Given the description of an element on the screen output the (x, y) to click on. 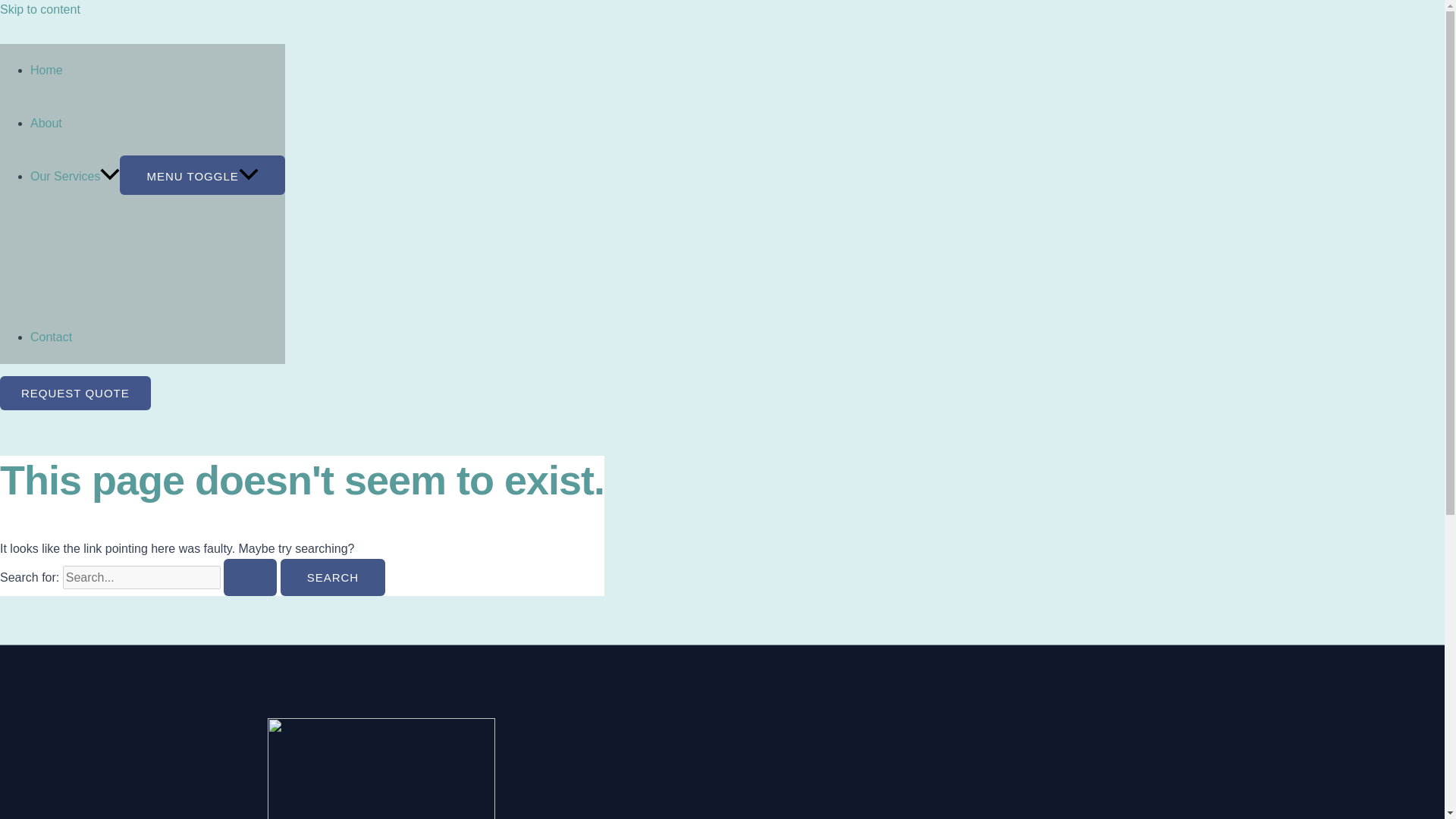
Skip to content (40, 9)
Contact (50, 336)
Search (333, 577)
Search (333, 577)
REQUEST QUOTE (75, 392)
About (46, 123)
MENU TOGGLE (201, 174)
Skip to content (40, 9)
Search (333, 577)
Our Services (74, 175)
Home (46, 69)
